Given the description of an element on the screen output the (x, y) to click on. 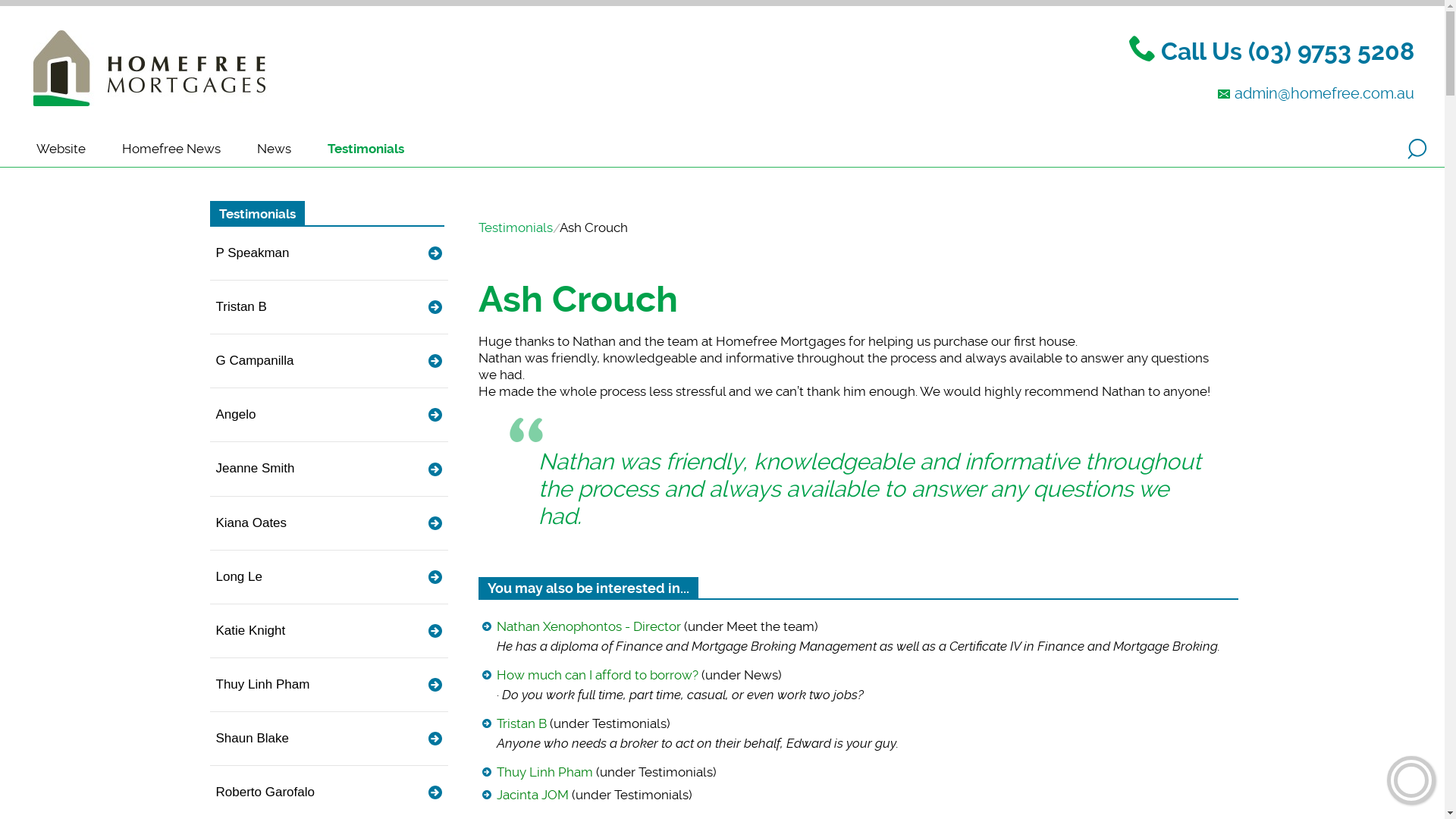
How much can I afford to borrow? Element type: text (596, 674)
Tristan B Element type: text (328, 306)
P Speakman Element type: text (328, 252)
Shaun Blake Element type: text (328, 738)
Testimonials Element type: text (514, 227)
Testimonials Element type: text (365, 148)
Ash Crouch Element type: text (577, 299)
Nathan Xenophontos - Director Element type: text (587, 625)
Jacinta JOM Element type: text (531, 794)
Thuy Linh Pham Element type: text (328, 684)
Call Us (03) 9753 5208 Element type: text (1287, 50)
G Campanilla Element type: text (328, 360)
Website Element type: text (60, 148)
Angelo Element type: text (328, 414)
Tristan B Element type: text (520, 723)
Long Le Element type: text (328, 576)
Homefree News Element type: text (170, 148)
Katie Knight Element type: text (328, 630)
Kiana Oates Element type: text (328, 522)
Jeanne Smith Element type: text (328, 468)
Testimonials Element type: text (256, 213)
admin@homefree.com.au Element type: text (1324, 92)
News Element type: text (273, 148)
Thuy Linh Pham Element type: text (543, 771)
